Given the description of an element on the screen output the (x, y) to click on. 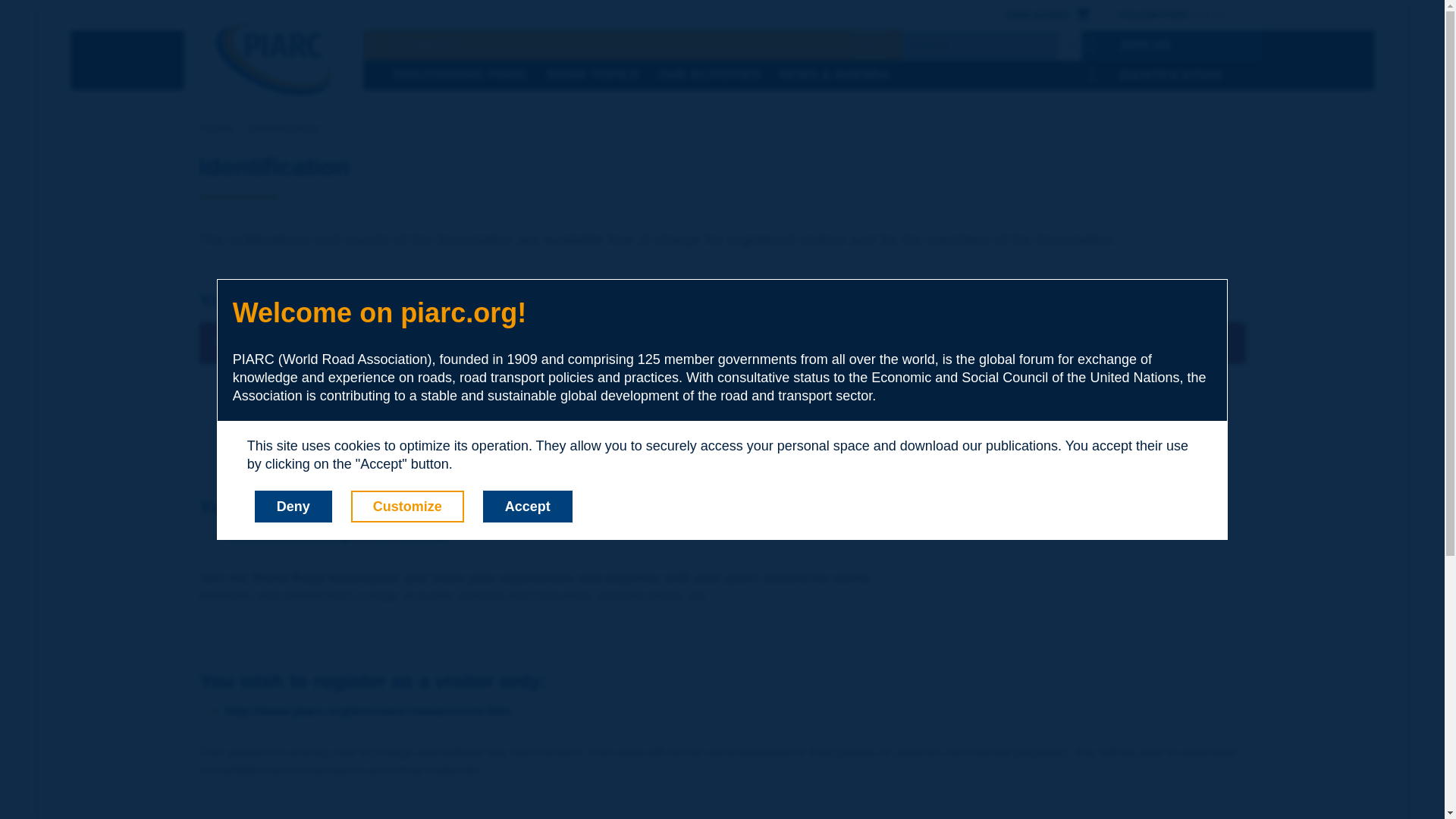
Deny (292, 506)
Create a Visitor Account! (729, 711)
OK (870, 44)
Customize (407, 506)
Accept (527, 506)
DISCOVERING PIARC (460, 75)
Become a member of the Association! (729, 537)
